Given the description of an element on the screen output the (x, y) to click on. 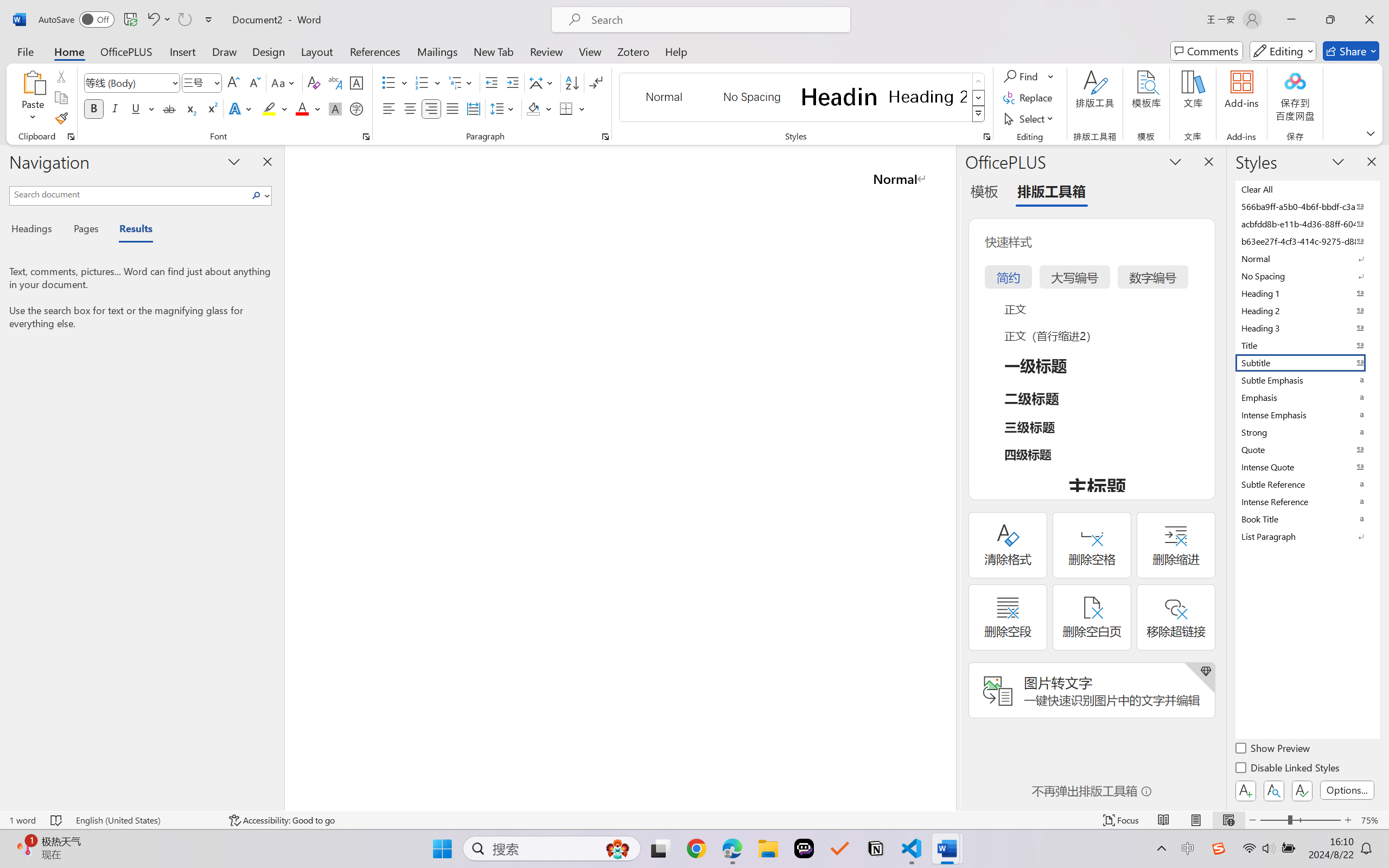
AutomationID: DynamicSearchBoxGleamImage (617, 848)
Restore Down (1330, 19)
Subscript (190, 108)
Strikethrough (169, 108)
Styles (978, 113)
Zoom (1300, 819)
Share (1350, 51)
Decrease Indent (491, 82)
Bold (94, 108)
Book Title (1306, 518)
AutomationID: QuickStylesGallery (802, 97)
Word Count 1 word (21, 819)
